Given the description of an element on the screen output the (x, y) to click on. 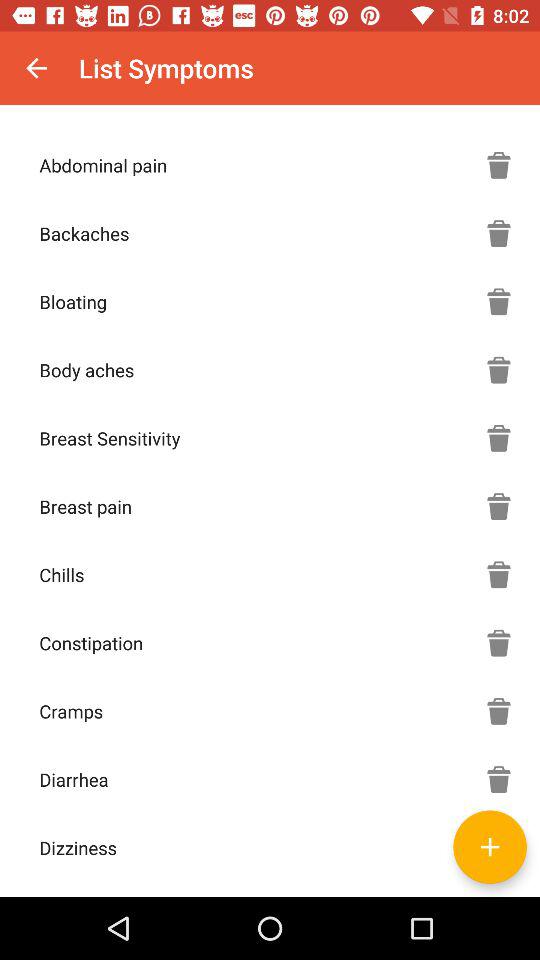
mark that you 're not experiencing bloating (499, 301)
